Given the description of an element on the screen output the (x, y) to click on. 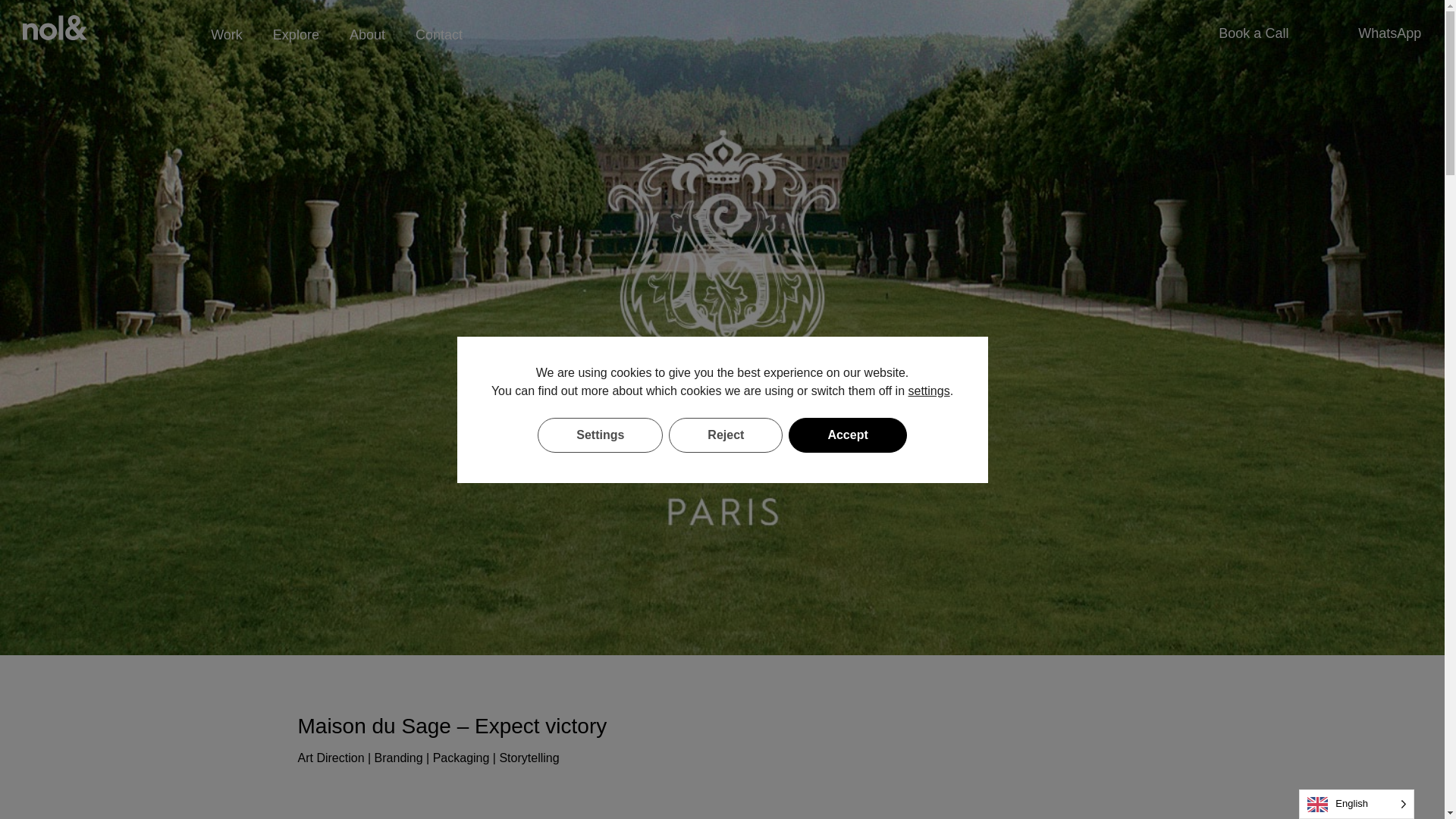
Work (226, 2)
WhatsApp (1389, 18)
Contact (438, 7)
Explore (295, 4)
About (367, 6)
Book a Call (1253, 16)
